Given the description of an element on the screen output the (x, y) to click on. 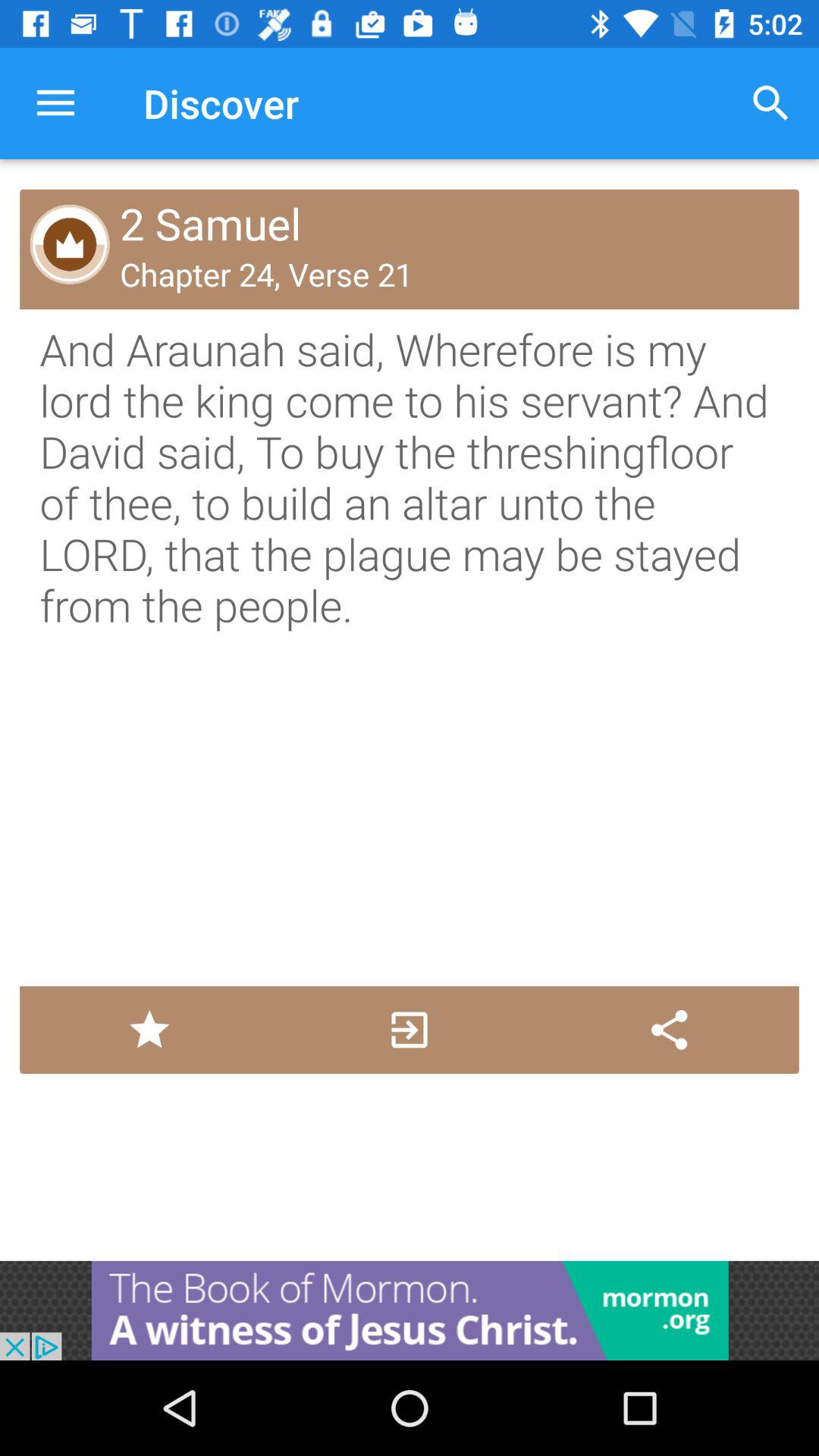
advertisement (409, 1310)
